Given the description of an element on the screen output the (x, y) to click on. 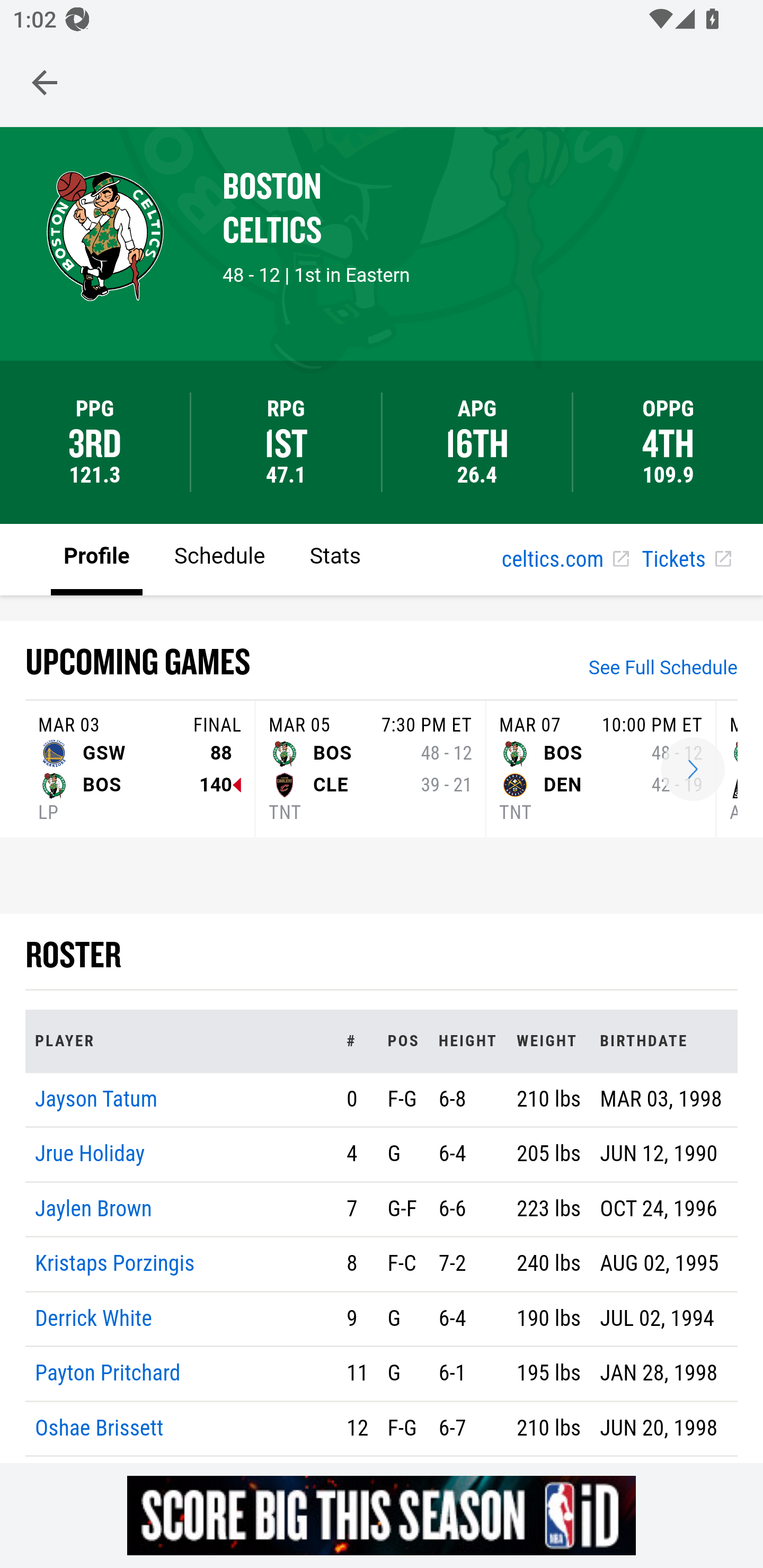
Navigate up (44, 82)
Profile (97, 558)
Schedule (219, 558)
Stats (335, 558)
celtics.com (564, 560)
Tickets (685, 560)
See Full Schedule (662, 669)
Match-up Scores (692, 769)
Jayson Tatum (96, 1098)
Jrue Holiday (90, 1154)
Jaylen Brown (93, 1207)
Kristaps Porzingis (115, 1264)
Derrick White (93, 1317)
Payton Pritchard (108, 1374)
Oshae Brissett (99, 1427)
